Given the description of an element on the screen output the (x, y) to click on. 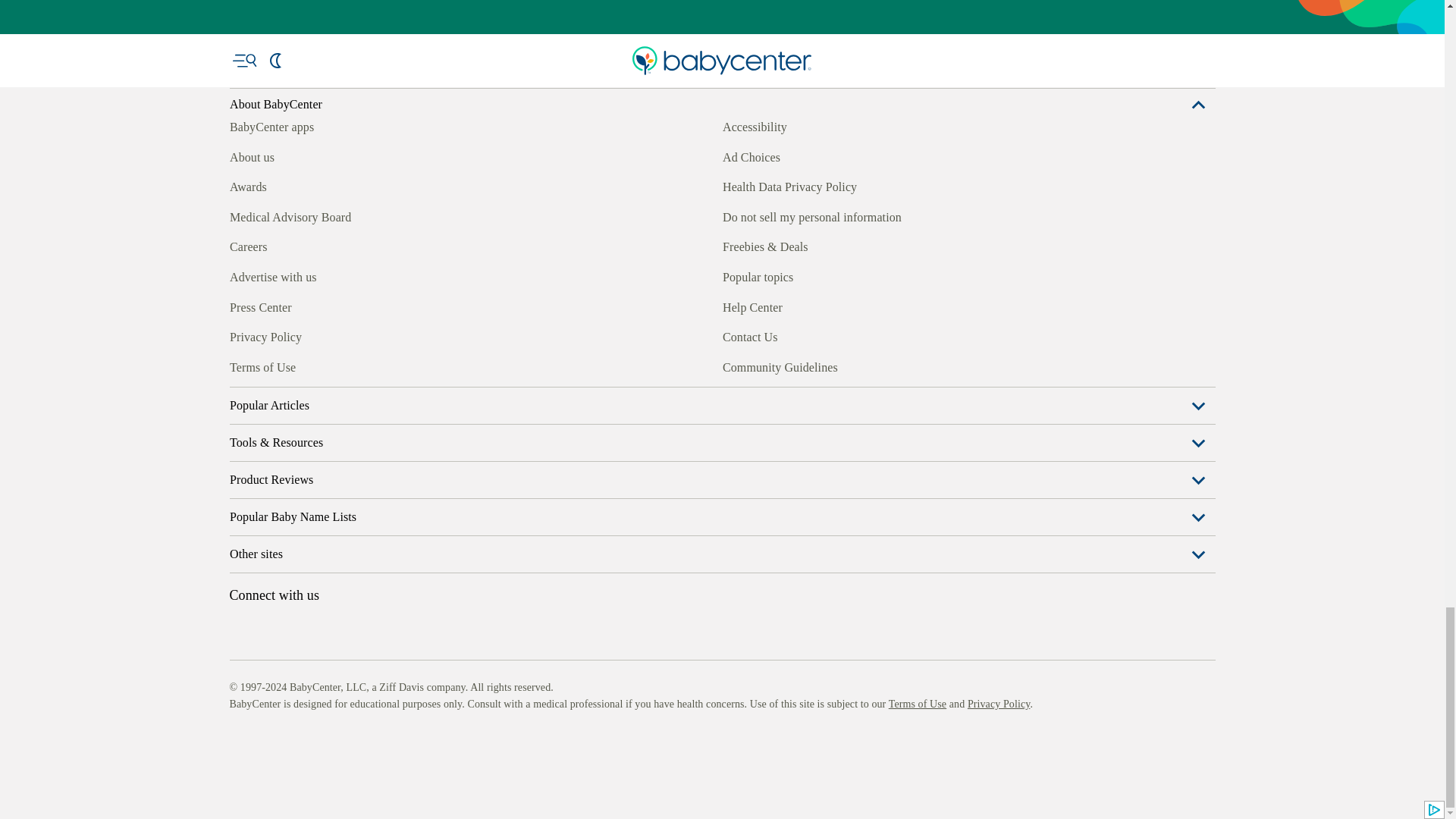
BabyCenter YouTube channel (344, 364)
BabyCenter Twitter feed (379, 364)
BabyCenter Facebook page (239, 364)
BabyCenter Instagram feed (274, 364)
BabyCenter Pinterest board (309, 364)
